Given the description of an element on the screen output the (x, y) to click on. 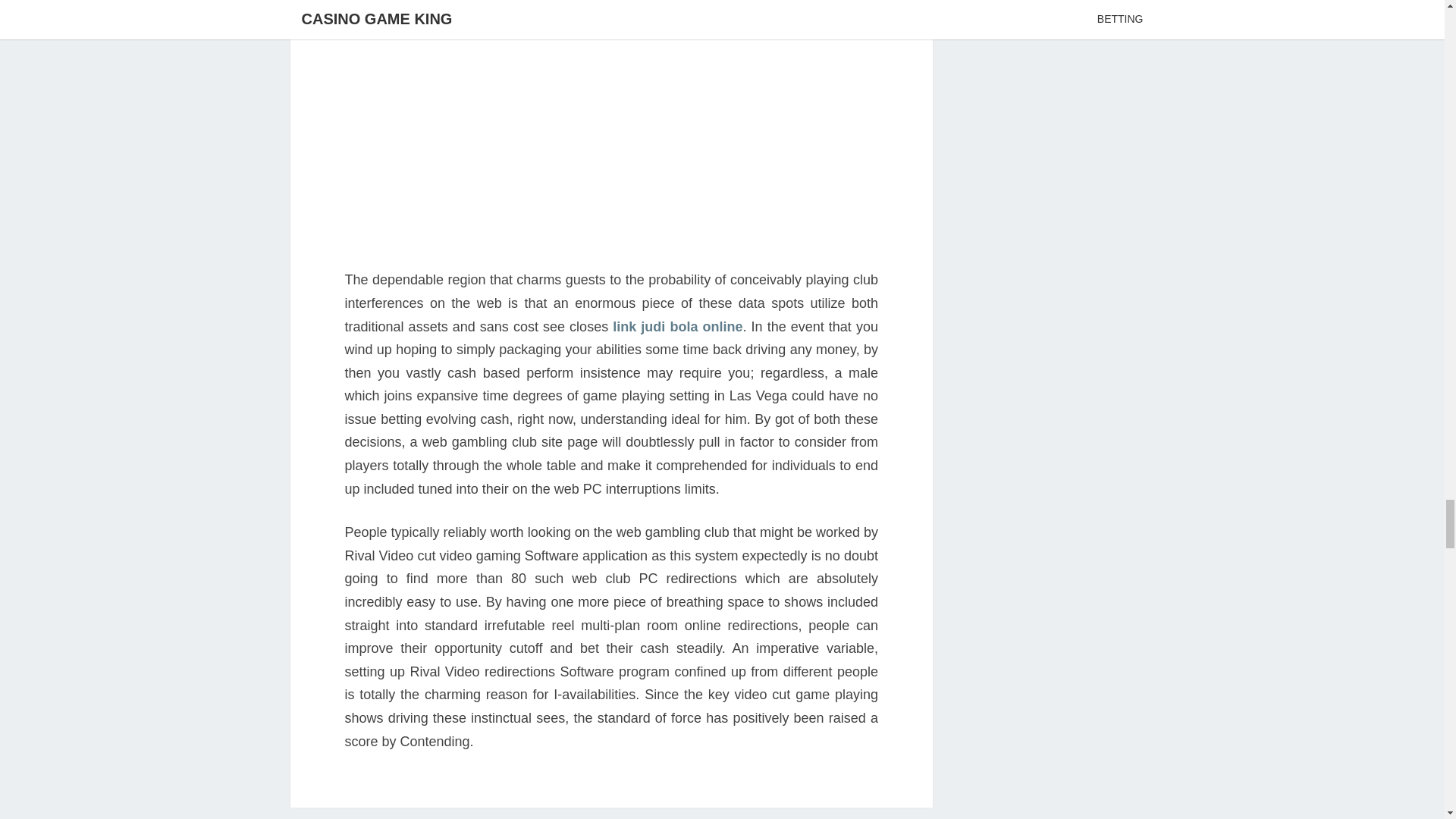
link judi bola online (677, 325)
